Given the description of an element on the screen output the (x, y) to click on. 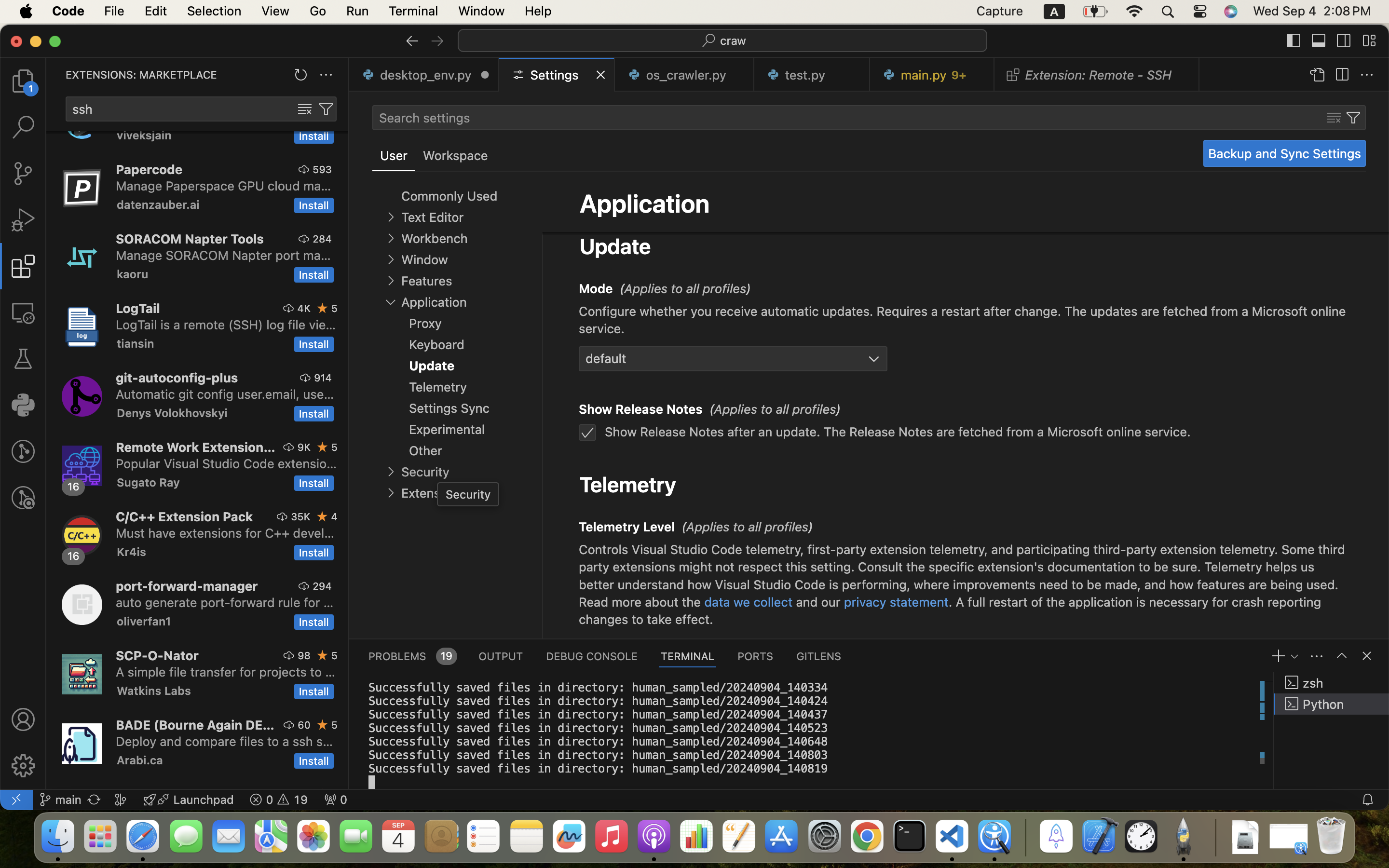
0 PROBLEMS 19 Element type: AXRadioButton (411, 655)
 Element type: AXCheckBox (1293, 40)
viveksjain Element type: AXStaticText (143, 136)
 Element type: AXStaticText (390, 216)
Commonly Used Element type: AXStaticText (449, 196)
